Given the description of an element on the screen output the (x, y) to click on. 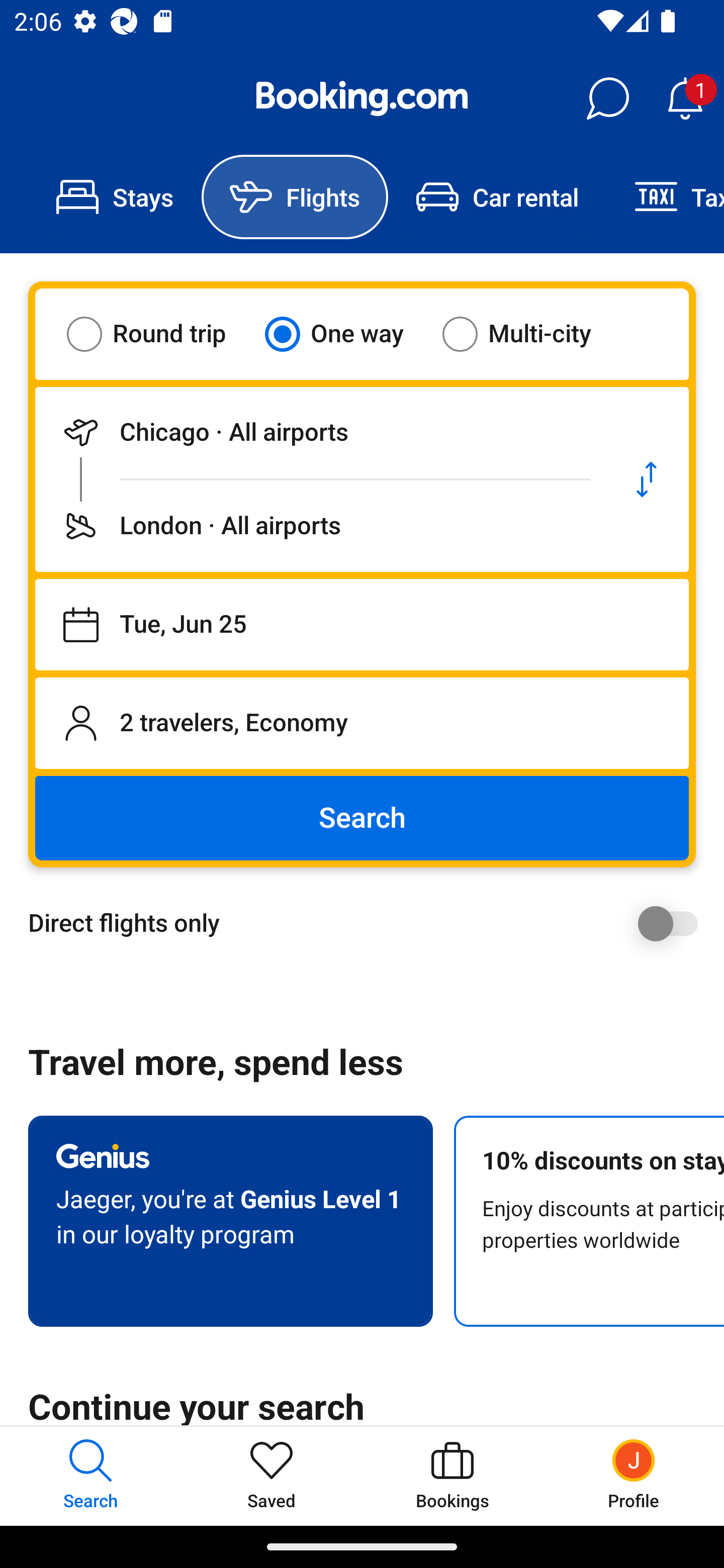
Messages (607, 98)
Notifications (685, 98)
Stays (114, 197)
Flights (294, 197)
Car rental (497, 197)
Taxi (665, 197)
Round trip (158, 333)
Multi-city (528, 333)
Departing from Chicago · All airports (319, 432)
Swap departure location and destination (646, 479)
Flying to London · All airports (319, 525)
Departing on Tue, Jun 25 (361, 624)
2 travelers, Economy (361, 722)
Search (361, 818)
Direct flights only (369, 923)
Saved (271, 1475)
Bookings (452, 1475)
Profile (633, 1475)
